Given the description of an element on the screen output the (x, y) to click on. 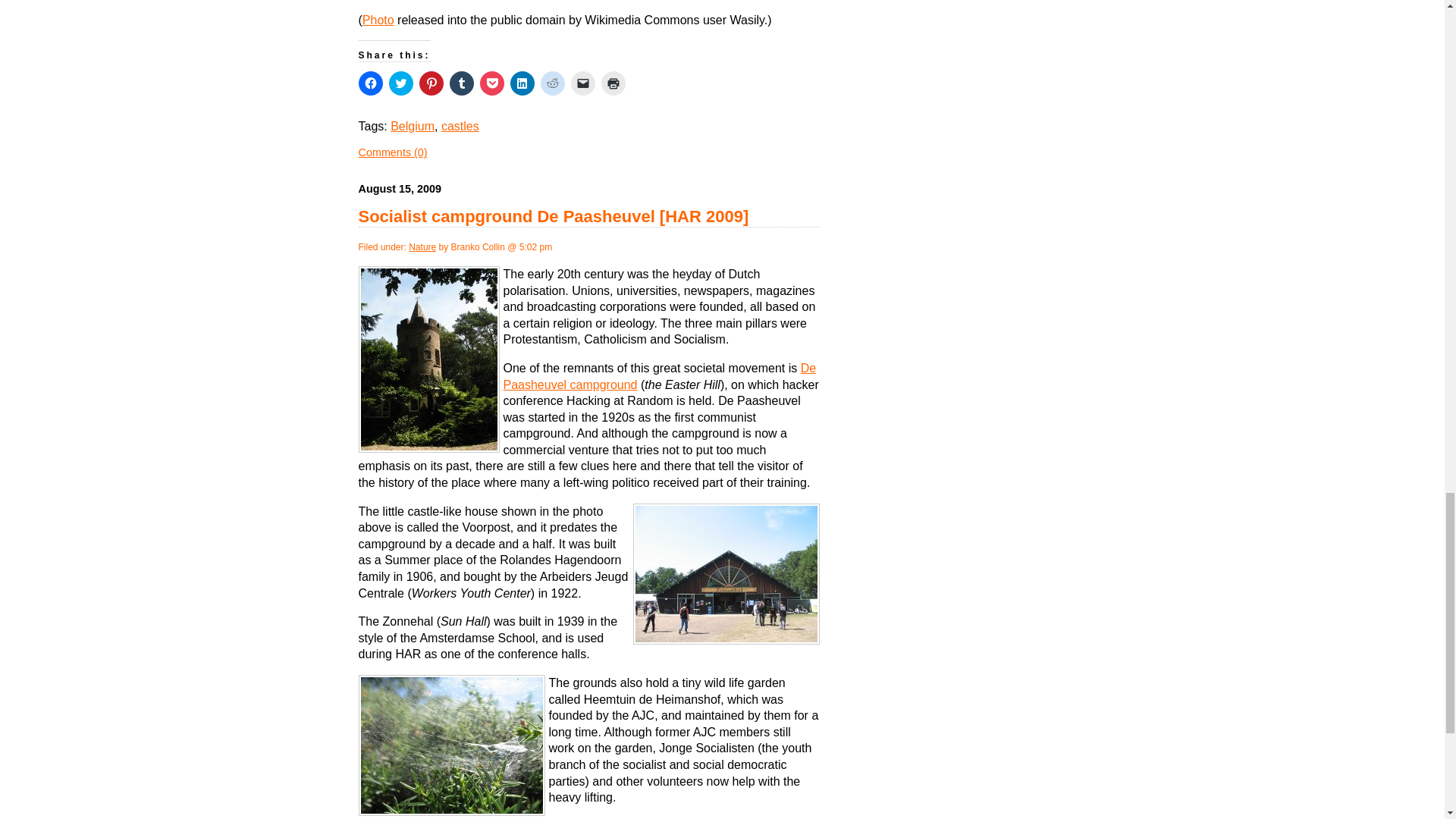
Photo (378, 19)
